Given the description of an element on the screen output the (x, y) to click on. 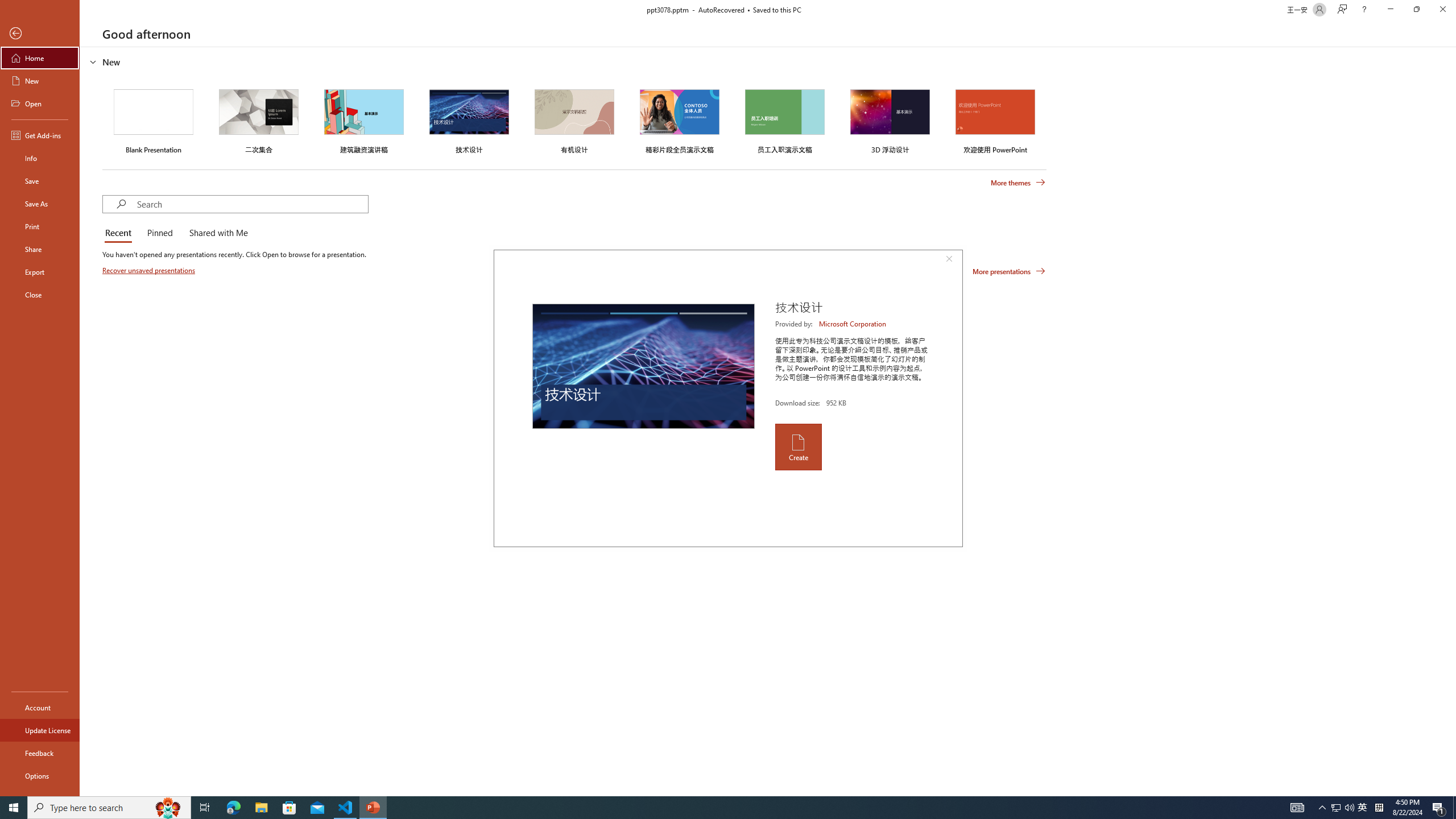
Microsoft Corporation (853, 323)
